Given the description of an element on the screen output the (x, y) to click on. 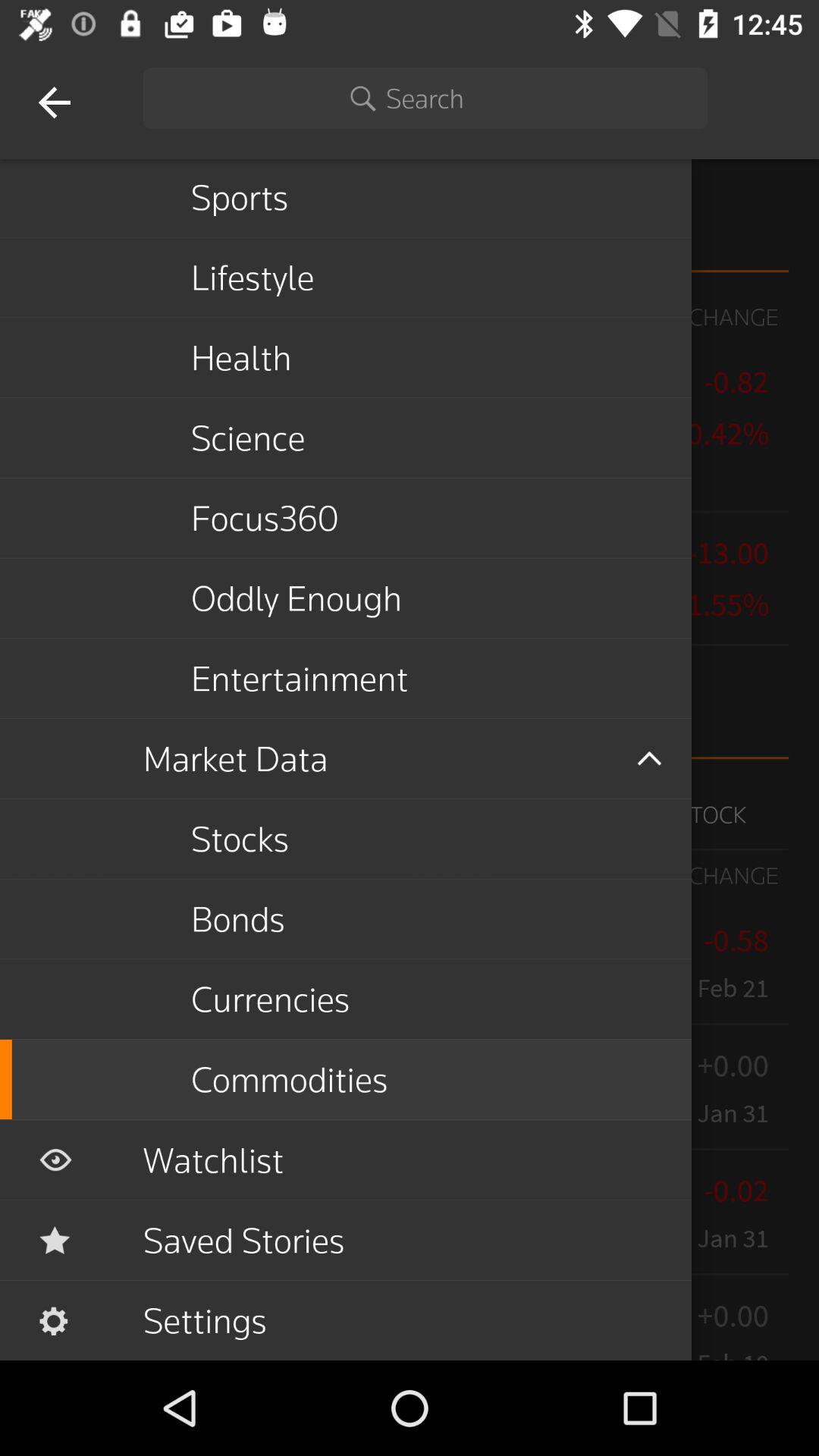
click on the button which is above the bonds (278, 814)
